Given the description of an element on the screen output the (x, y) to click on. 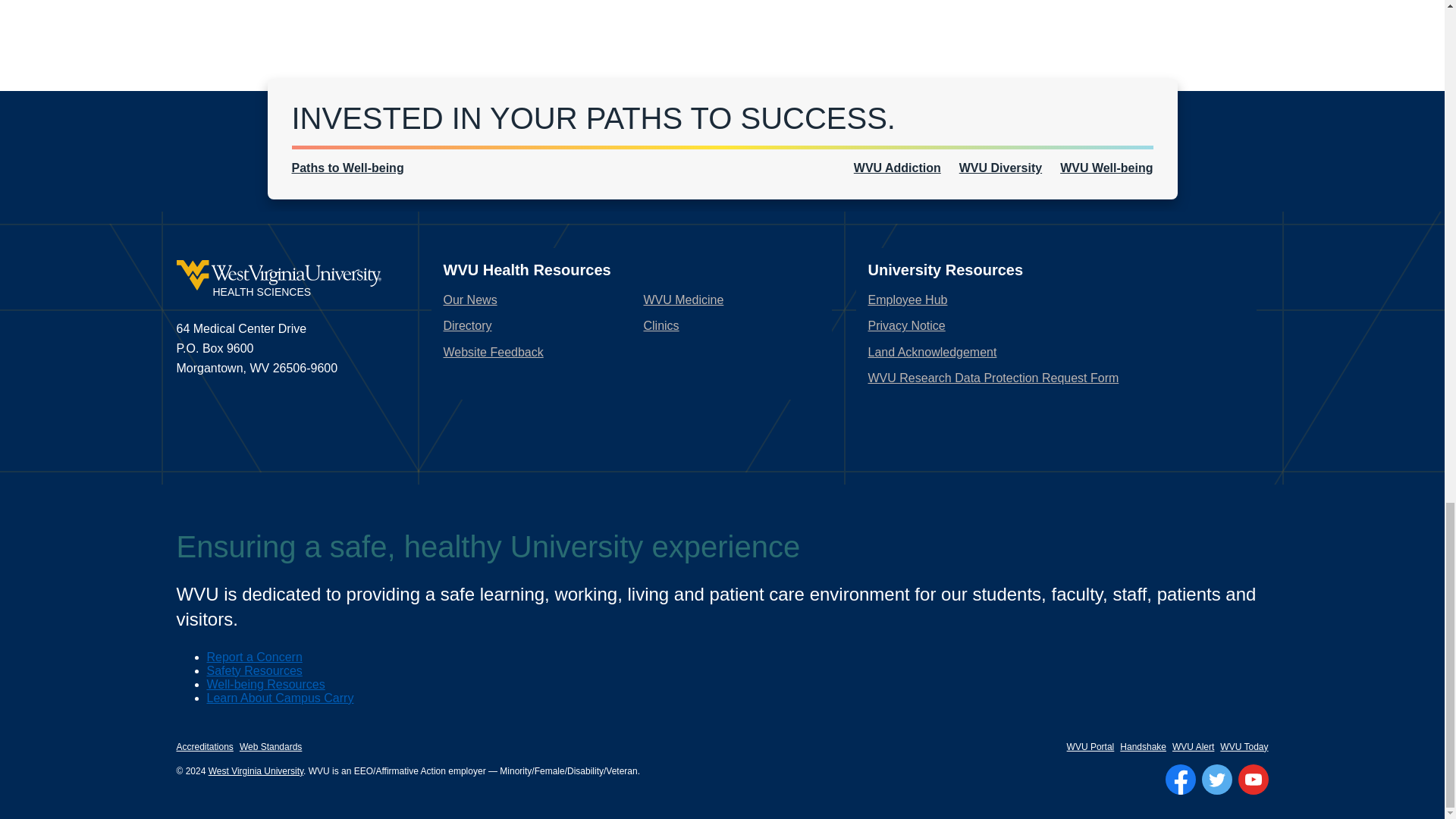
Clinics (660, 325)
WVU Research Data Protection Request Form (992, 377)
WVU Medicine (683, 299)
Privacy Notice (905, 325)
WVU Alert (1193, 747)
Our News (469, 299)
WVU Portal (1091, 747)
Directory (467, 325)
WVU Addiction (896, 168)
West Virginia University (255, 770)
